Given the description of an element on the screen output the (x, y) to click on. 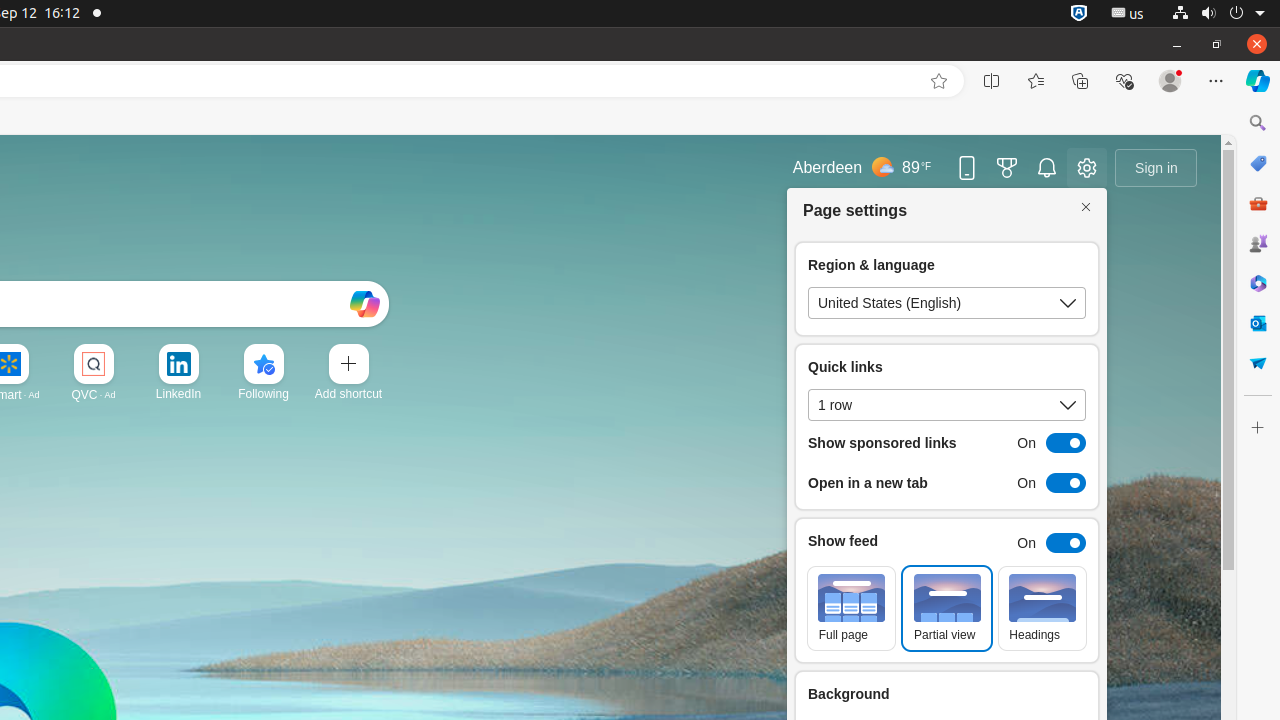
:1.21/StatusNotifierItem Element type: menu (1127, 13)
Region & language Element type: combo-box (947, 303)
Favorites Element type: push-button (1036, 81)
Notifications Element type: push-button (1047, 168)
Headings Element type: push-button (1042, 608)
